Given the description of an element on the screen output the (x, y) to click on. 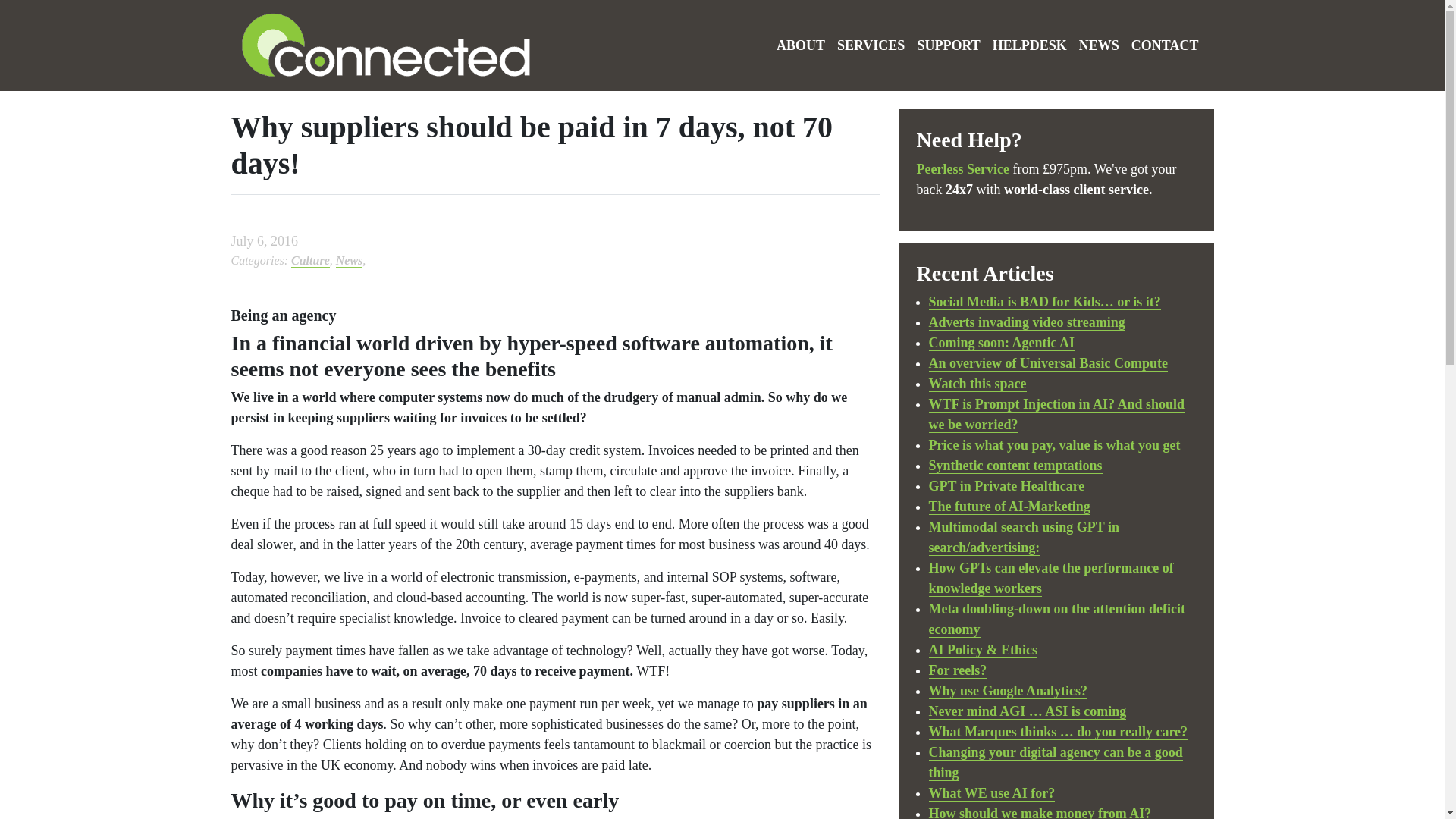
Watch this space (977, 383)
An overview of Universal Basic Compute (1047, 363)
For reels? (957, 670)
Synthetic content temptations (1015, 465)
NEWS (1099, 44)
ABOUT (800, 44)
Price is what you pay, value is what you get (1054, 445)
Meta doubling-down on the attention deficit economy (1057, 619)
News (349, 260)
HELPDESK (1030, 44)
How GPTs can elevate the performance of knowledge workers (1050, 578)
WTF is Prompt Injection in AI? And should we be worried? (1056, 414)
Culture (310, 260)
The future of AI-Marketing (1009, 506)
